Given the description of an element on the screen output the (x, y) to click on. 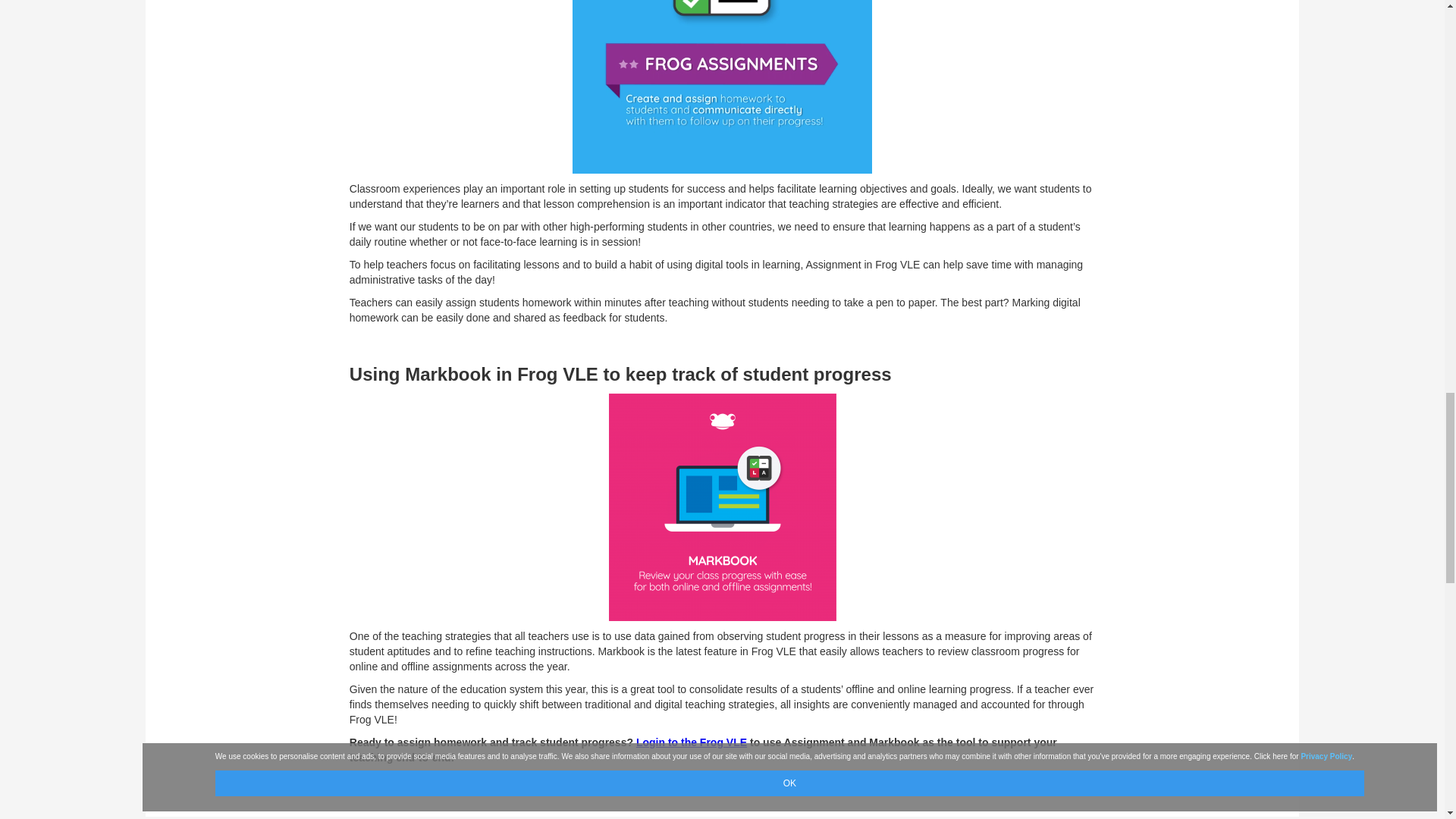
Login to the Frog VLE (691, 742)
